Given the description of an element on the screen output the (x, y) to click on. 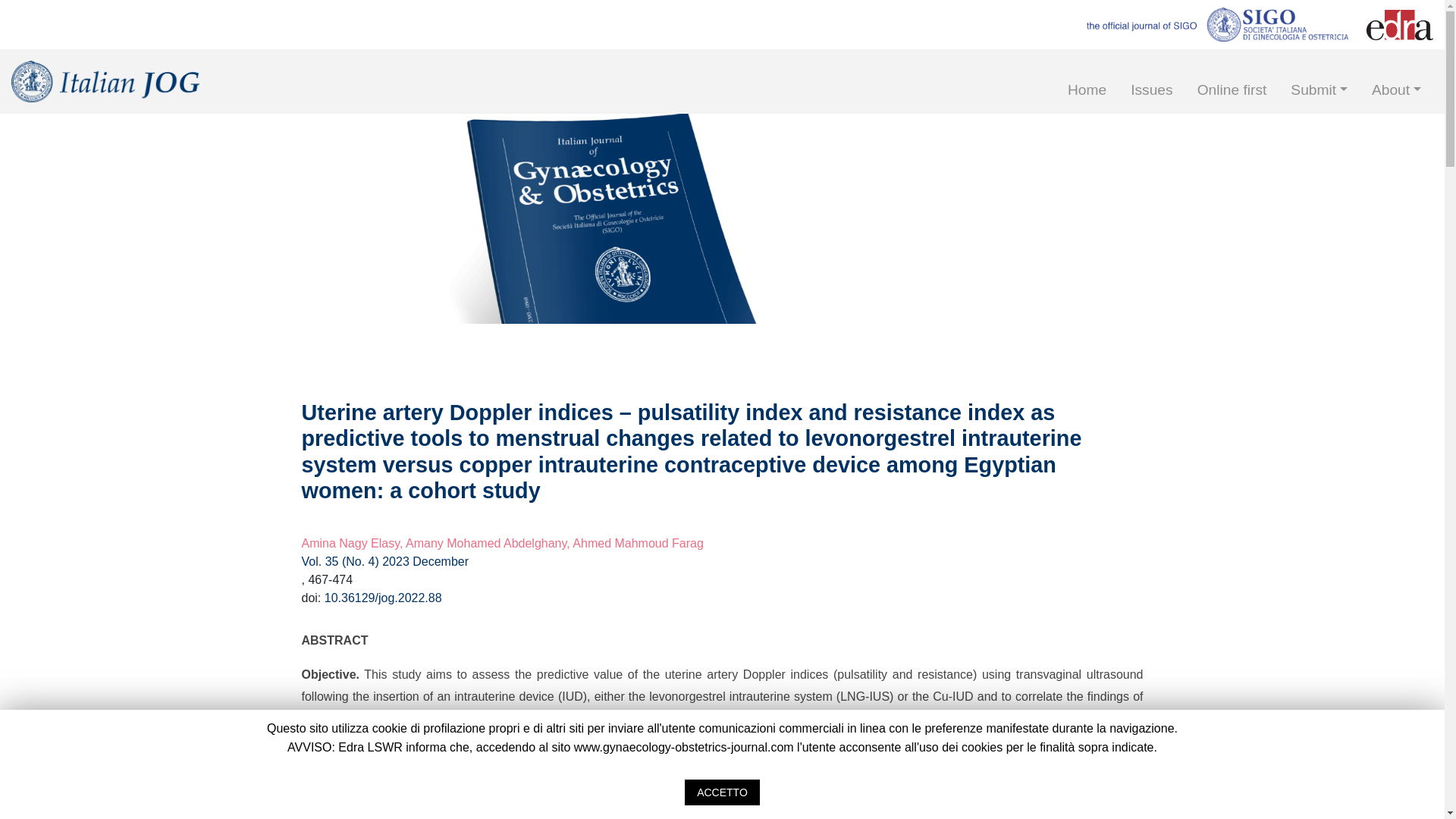
Issues (1151, 90)
Online first (1232, 90)
Submit (1318, 90)
Home (1087, 90)
About (1395, 90)
